Given the description of an element on the screen output the (x, y) to click on. 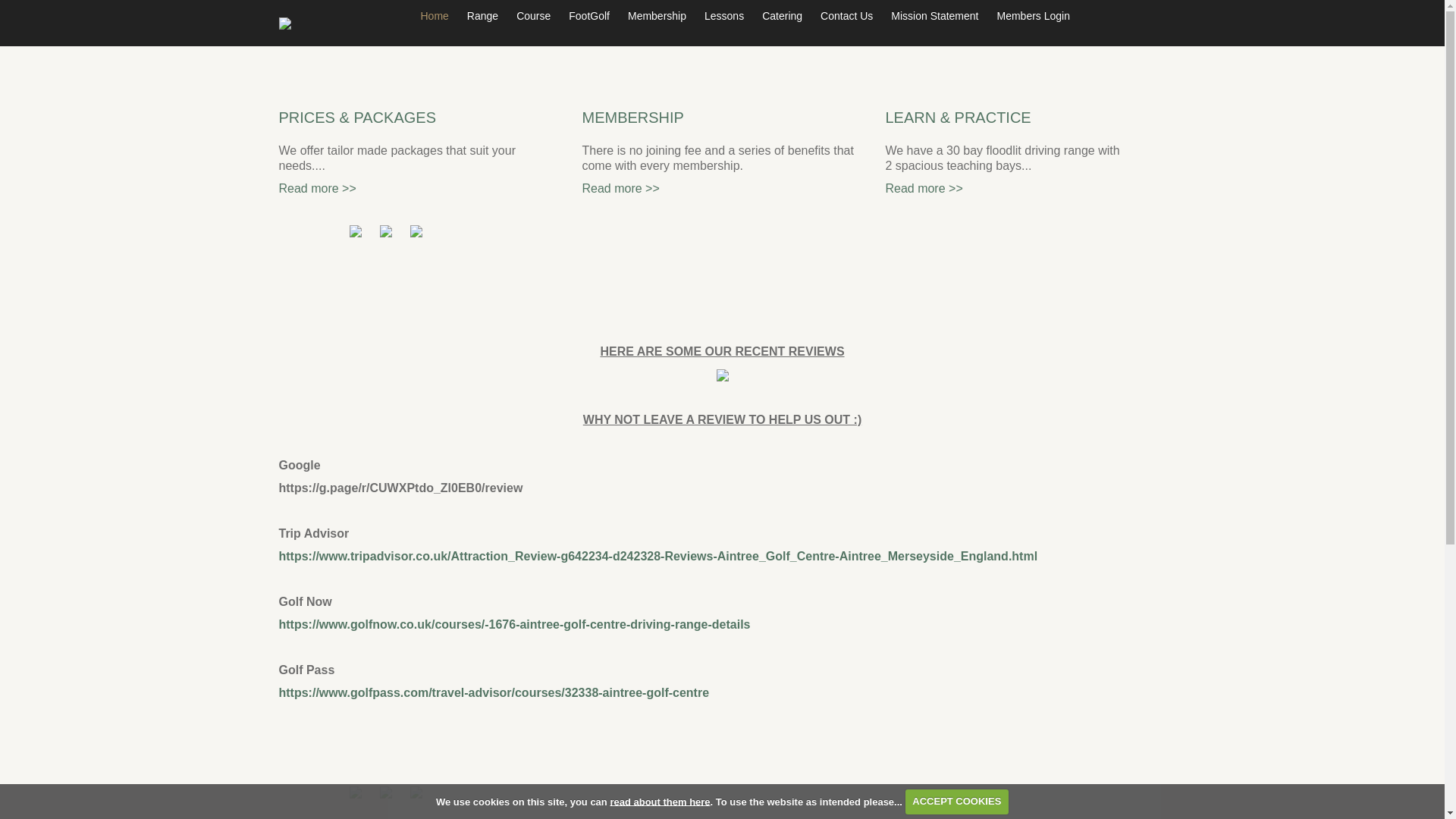
read about our cookies (660, 800)
FootGolf (588, 15)
Course (532, 15)
Lessons (723, 15)
Range (482, 15)
Catering (781, 15)
Membership (656, 15)
Home (433, 15)
